Given the description of an element on the screen output the (x, y) to click on. 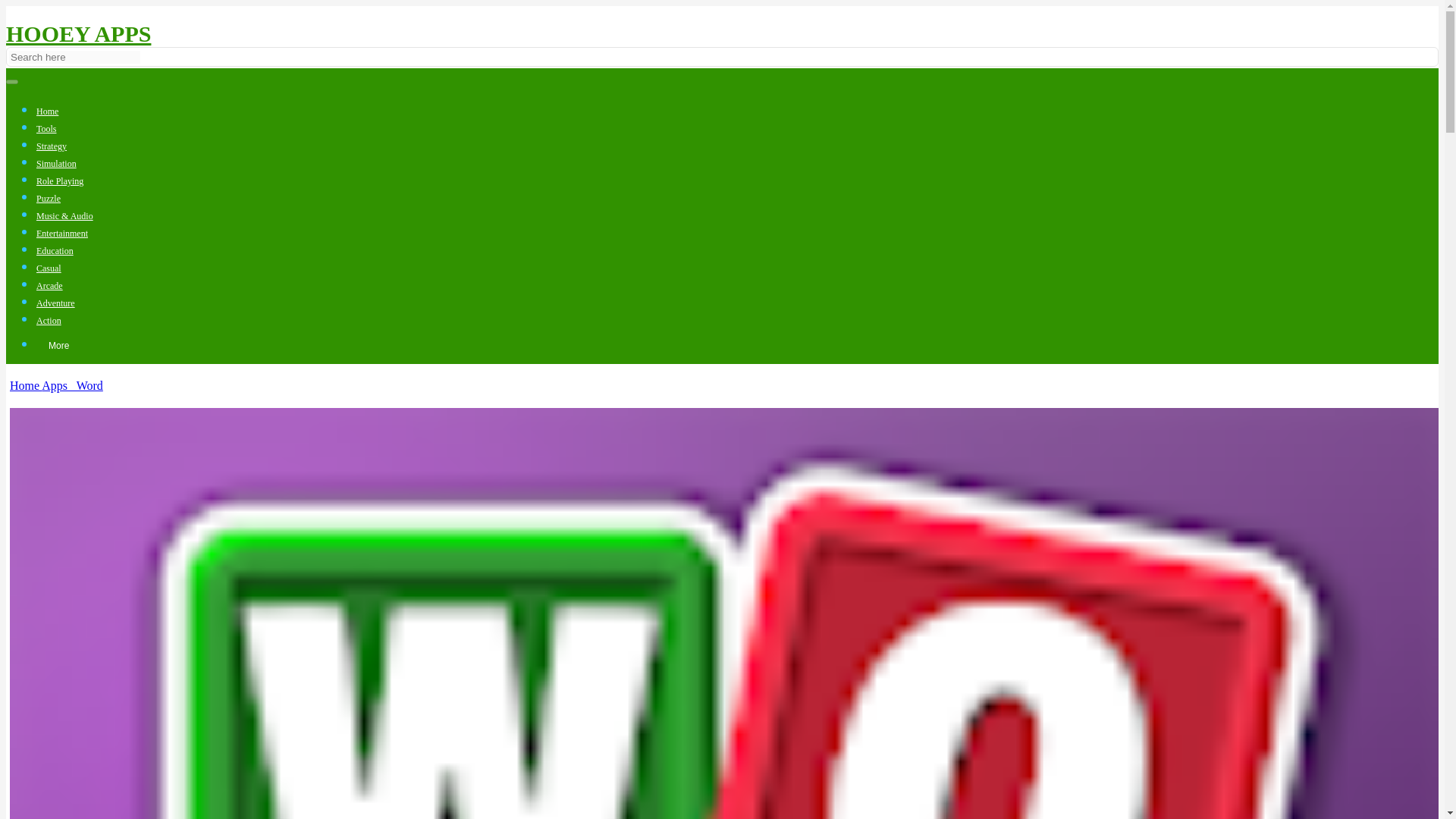
Apps  (58, 385)
Casual (48, 267)
Puzzle (48, 198)
Role Playing (59, 181)
HOOEY APPS (78, 33)
Action (48, 320)
Home (47, 111)
Strategy (51, 145)
Tools (46, 128)
Arcade (49, 285)
 Word (88, 385)
Education (55, 250)
Entertainment (61, 233)
More (58, 345)
Simulation (56, 163)
